Given the description of an element on the screen output the (x, y) to click on. 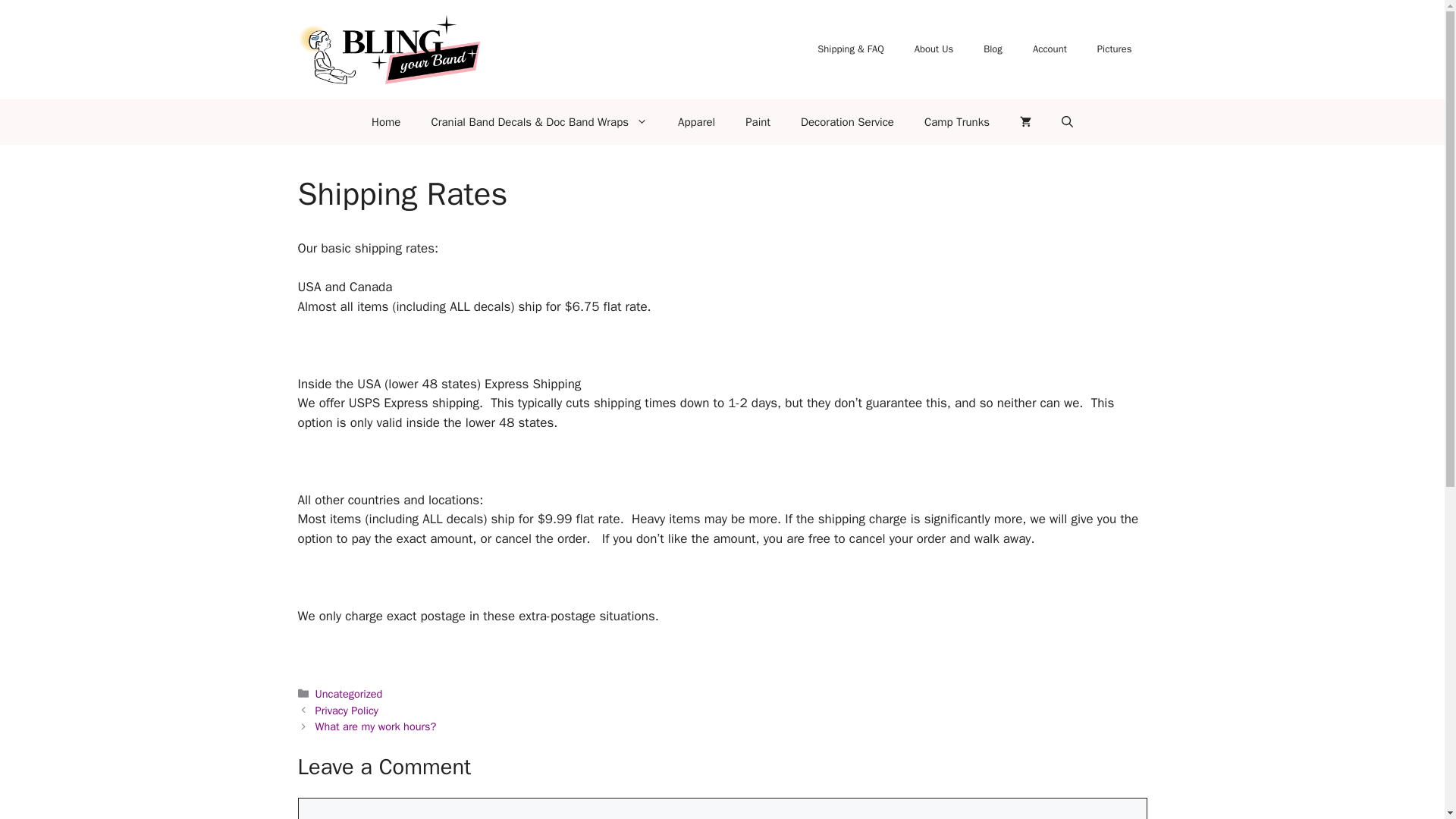
About Us (933, 49)
Pictures (1114, 49)
Home (385, 121)
Camp Trunks (956, 121)
Privacy Policy (346, 710)
Blog (992, 49)
Decoration Service (847, 121)
View your shopping cart (1025, 121)
What are my work hours? (375, 726)
Apparel (696, 121)
Uncategorized (348, 694)
Paint (758, 121)
Account (1049, 49)
